Given the description of an element on the screen output the (x, y) to click on. 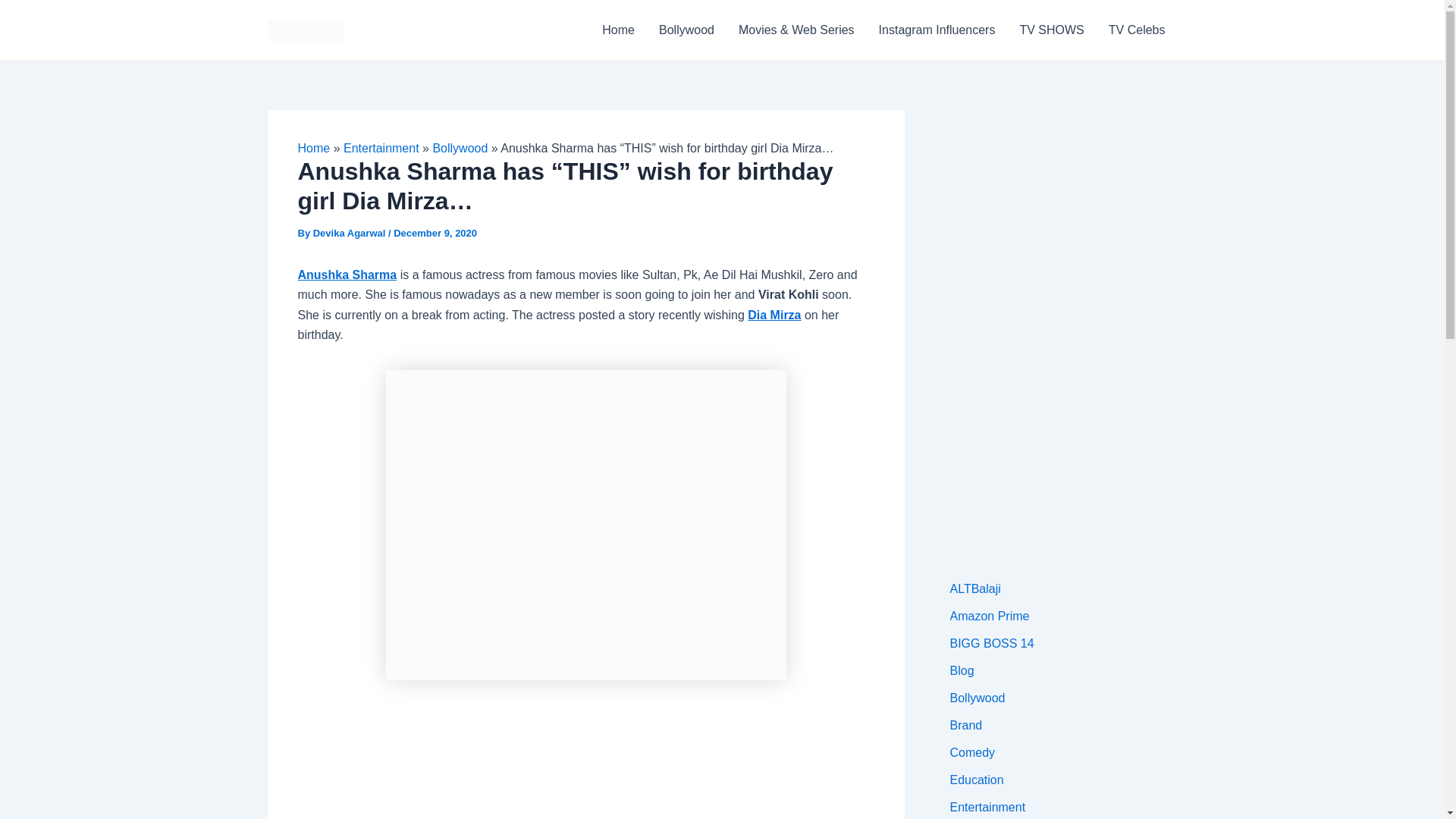
Entertainment (381, 147)
Home (313, 147)
Devika Agarwal (350, 233)
TV Celebs (1136, 30)
Anushka Sharma (346, 274)
Instagram Influencers (936, 30)
Home (617, 30)
Bollywood (459, 147)
Dia Mirza (774, 314)
View all posts by Devika Agarwal (350, 233)
